Given the description of an element on the screen output the (x, y) to click on. 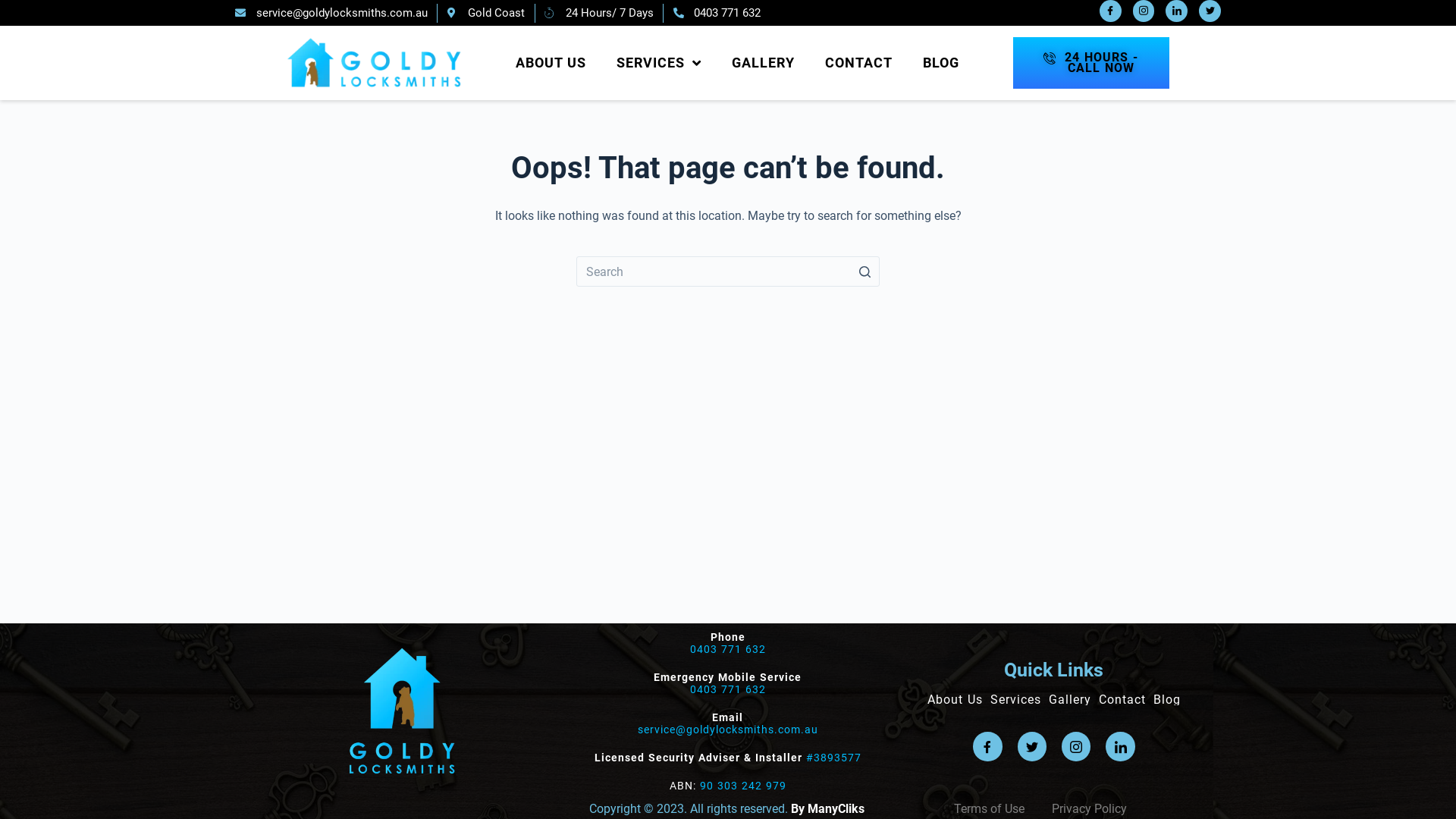
Gallery Element type: text (1069, 699)
service@goldylocksmiths.com.au Element type: text (331, 12)
0403 771 632 Element type: text (727, 689)
ABN: 90 303 242 979 Element type: text (727, 785)
BLOG Element type: text (940, 62)
CONTACT Element type: text (858, 62)
SERVICES Element type: text (658, 62)
Licensed Security Adviser & Installer #3893577 Element type: text (727, 757)
ABOUT US Element type: text (550, 62)
GALLERY Element type: text (762, 62)
Contact Element type: text (1121, 699)
24 HOURS - CALL NOW Element type: text (1091, 62)
Terms of Use         Element type: text (1000, 808)
0403 771 632 Element type: text (727, 649)
service@goldylocksmiths.com.au Element type: text (727, 729)
About Us Element type: text (954, 699)
Skip to content Element type: text (15, 7)
Services Element type: text (1015, 699)
Blog Element type: text (1166, 699)
Privacy Policy Element type: text (1088, 808)
Search for... Element type: hover (727, 271)
0403 771 632 Element type: text (717, 12)
